Given the description of an element on the screen output the (x, y) to click on. 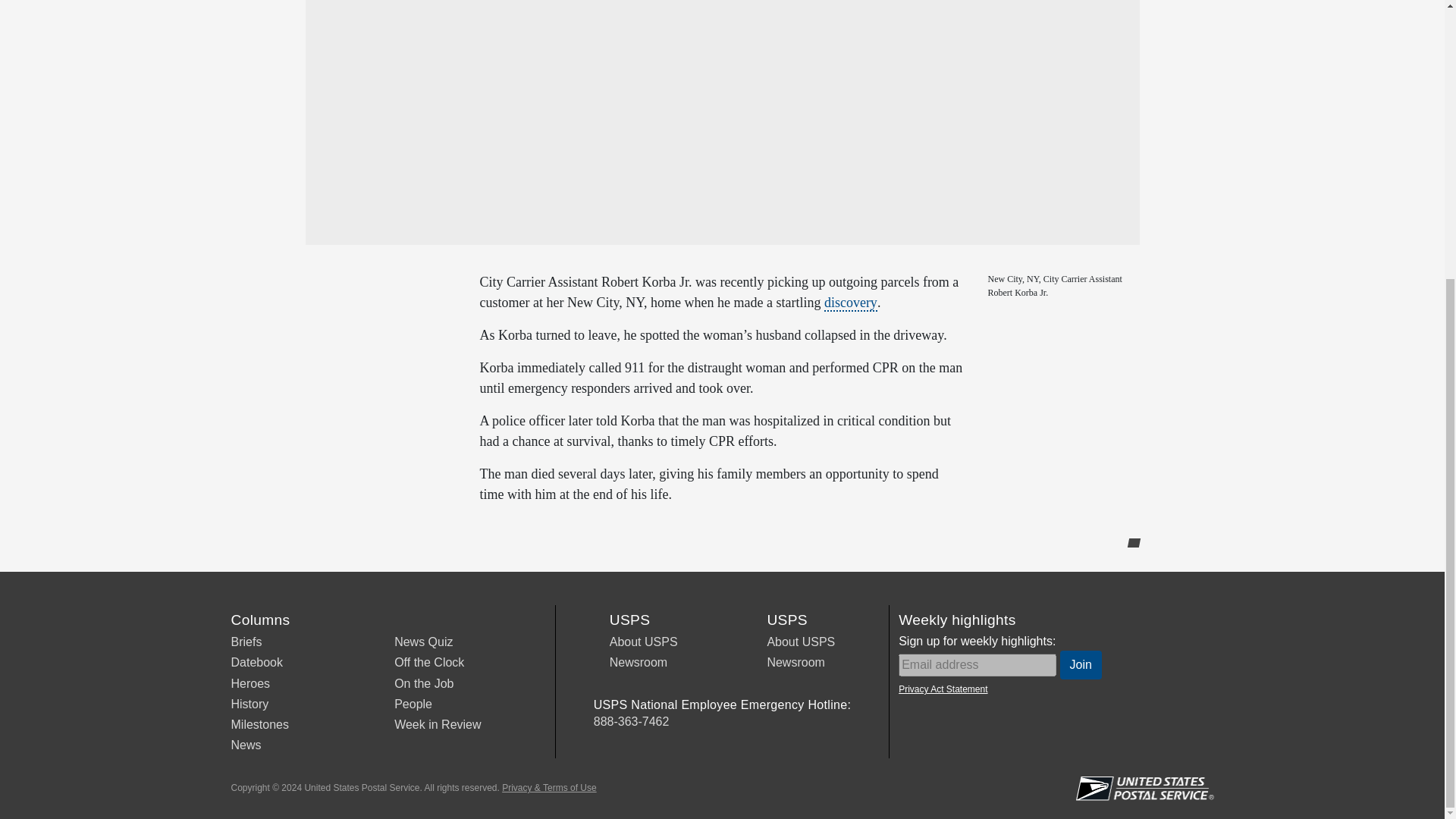
News (245, 744)
News Quiz (423, 641)
Newsroom (795, 662)
About USPS (800, 641)
Off the Clock (429, 662)
Newsroom (638, 662)
Join (1080, 664)
Milestones (259, 724)
discovery (850, 303)
Heroes (249, 683)
Briefs (246, 641)
People (413, 703)
Join (1080, 664)
Datebook (256, 662)
History (248, 703)
